Given the description of an element on the screen output the (x, y) to click on. 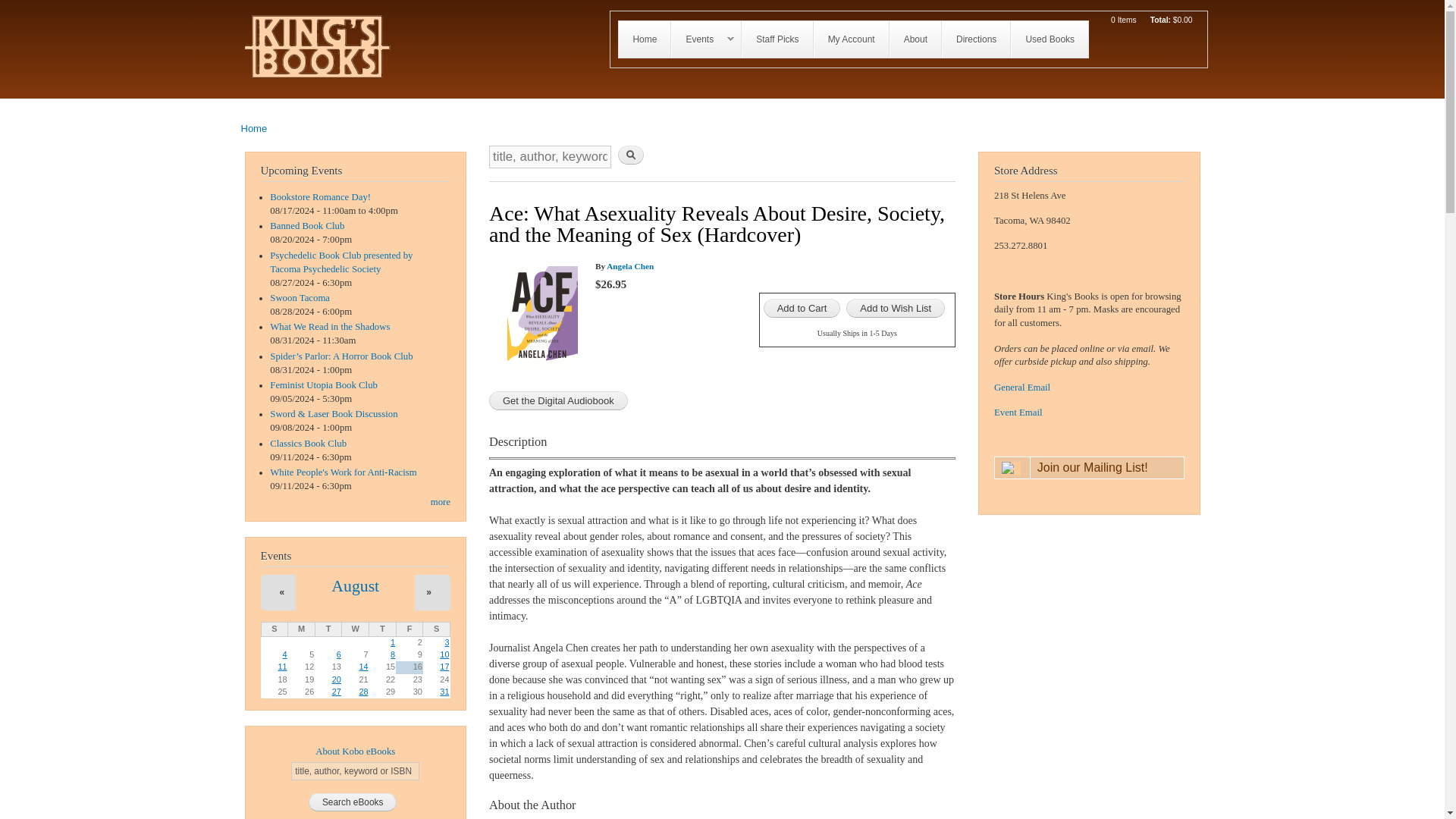
Add to Cart (801, 307)
Add to Cart (801, 307)
Angela Chen (630, 266)
Search eBooks (352, 802)
My Account (850, 39)
Search (630, 154)
Home (254, 128)
King's Books Query (1021, 387)
Get the Digital Audiobook (558, 400)
Navigate to previous month (282, 592)
